Given the description of an element on the screen output the (x, y) to click on. 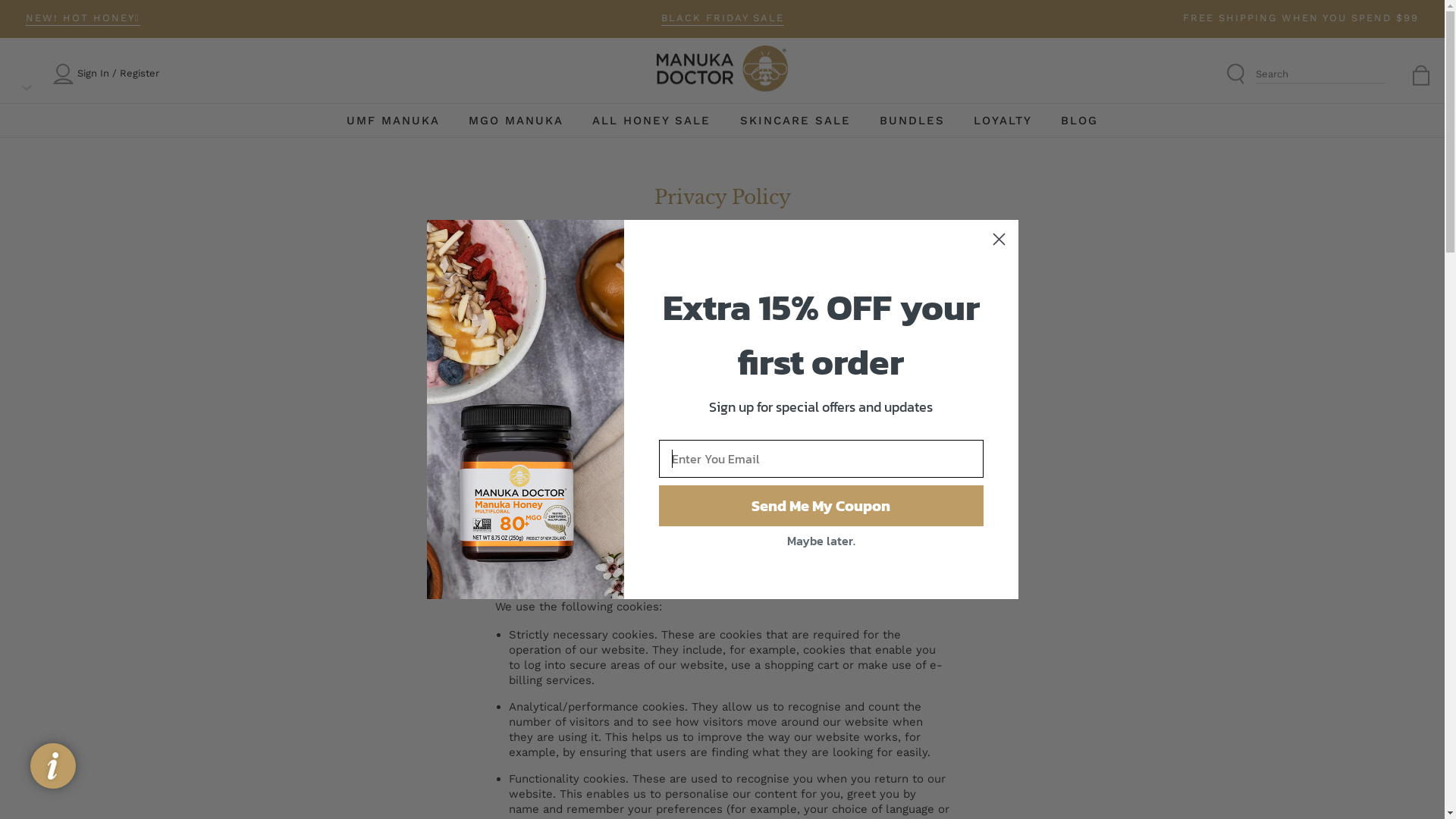
UK Element type: text (620, 446)
Sign In / Register Element type: text (118, 73)
OZ Element type: text (579, 446)
Maybe later. Element type: text (820, 540)
NL Element type: text (742, 446)
BLACK FRIDAY SALE Element type: text (722, 18)
BUNDLES Element type: text (911, 120)
SKINCARE SALE Element type: text (795, 120)
MGO MANUKA Element type: text (515, 120)
ALL HONEY SALE Element type: text (651, 120)
LOYALTY Element type: text (1002, 120)
US Element type: text (660, 446)
Manuka Doctor Australia Element type: hover (721, 72)
Terms of Website Use Element type: text (722, 276)
Submit Element type: text (31, 11)
UMF MANUKA Element type: text (392, 120)
BLOG Element type: text (1079, 120)
Send Me My Coupon Element type: text (820, 505)
IE Element type: text (823, 446)
Close dialog 2 Element type: text (998, 238)
NZ Element type: text (701, 446)
FR Element type: text (864, 446)
DE Element type: text (783, 446)
